Given the description of an element on the screen output the (x, y) to click on. 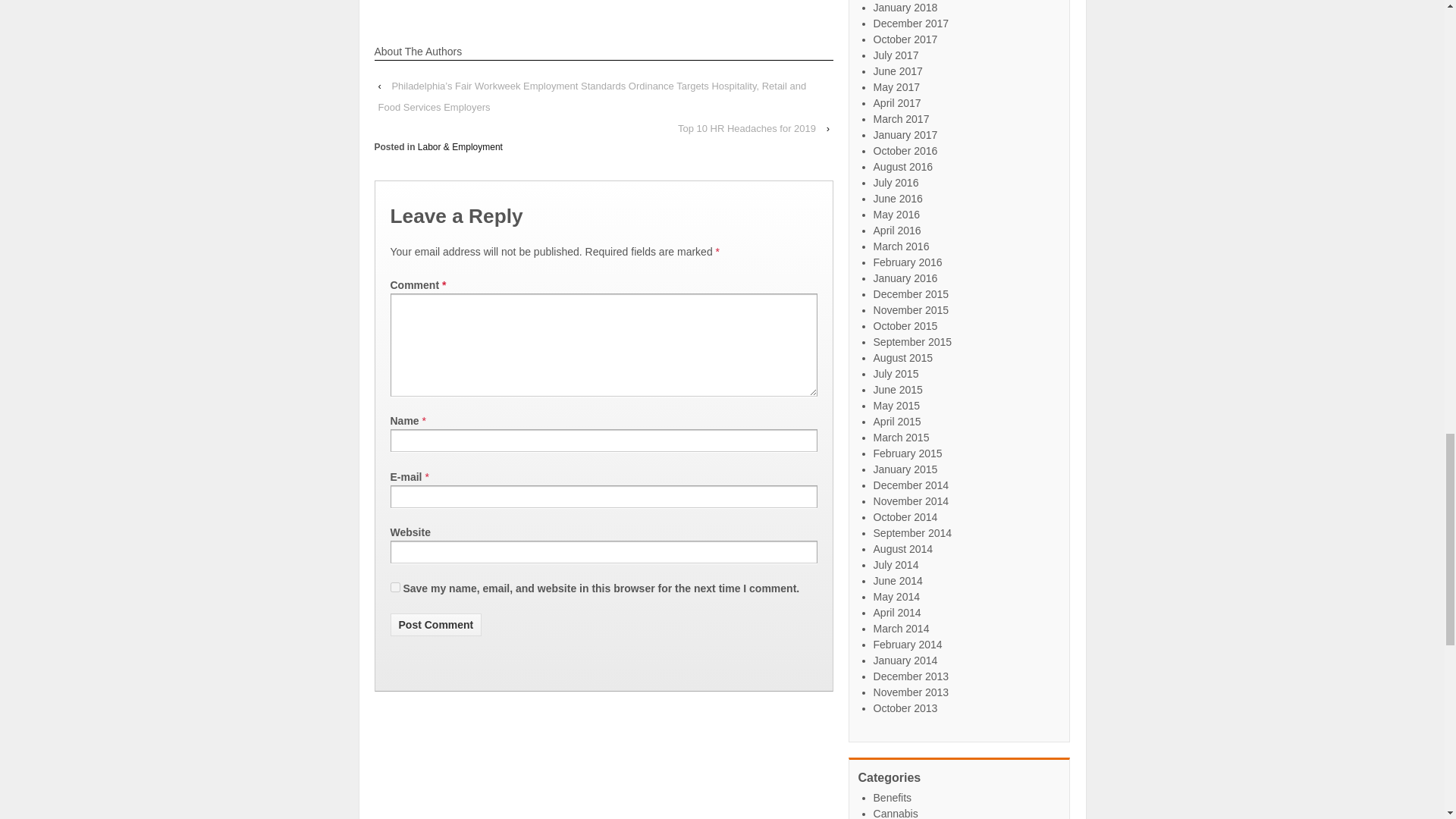
Top 10 HR Headaches for 2019 (746, 128)
Post Comment (435, 624)
Post Comment (435, 624)
yes (394, 587)
